Given the description of an element on the screen output the (x, y) to click on. 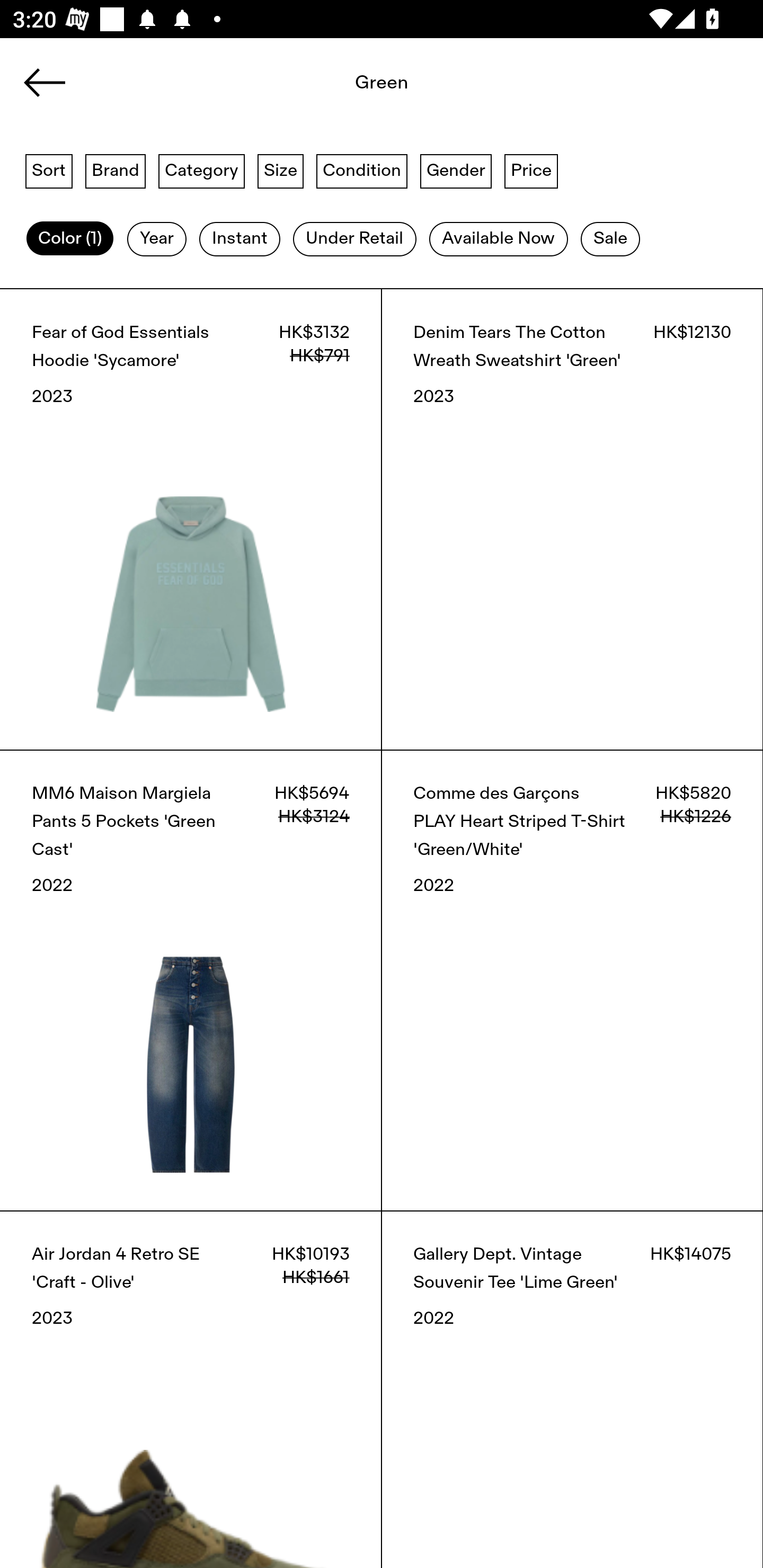
Sort (48, 170)
Brand (115, 170)
Category (201, 170)
Size (280, 170)
Condition (361, 170)
Gender (455, 170)
Price (530, 170)
Color (1) (69, 239)
Year (156, 239)
Instant (239, 239)
Under Retail (354, 239)
Available Now (497, 239)
Sale (610, 239)
